Given the description of an element on the screen output the (x, y) to click on. 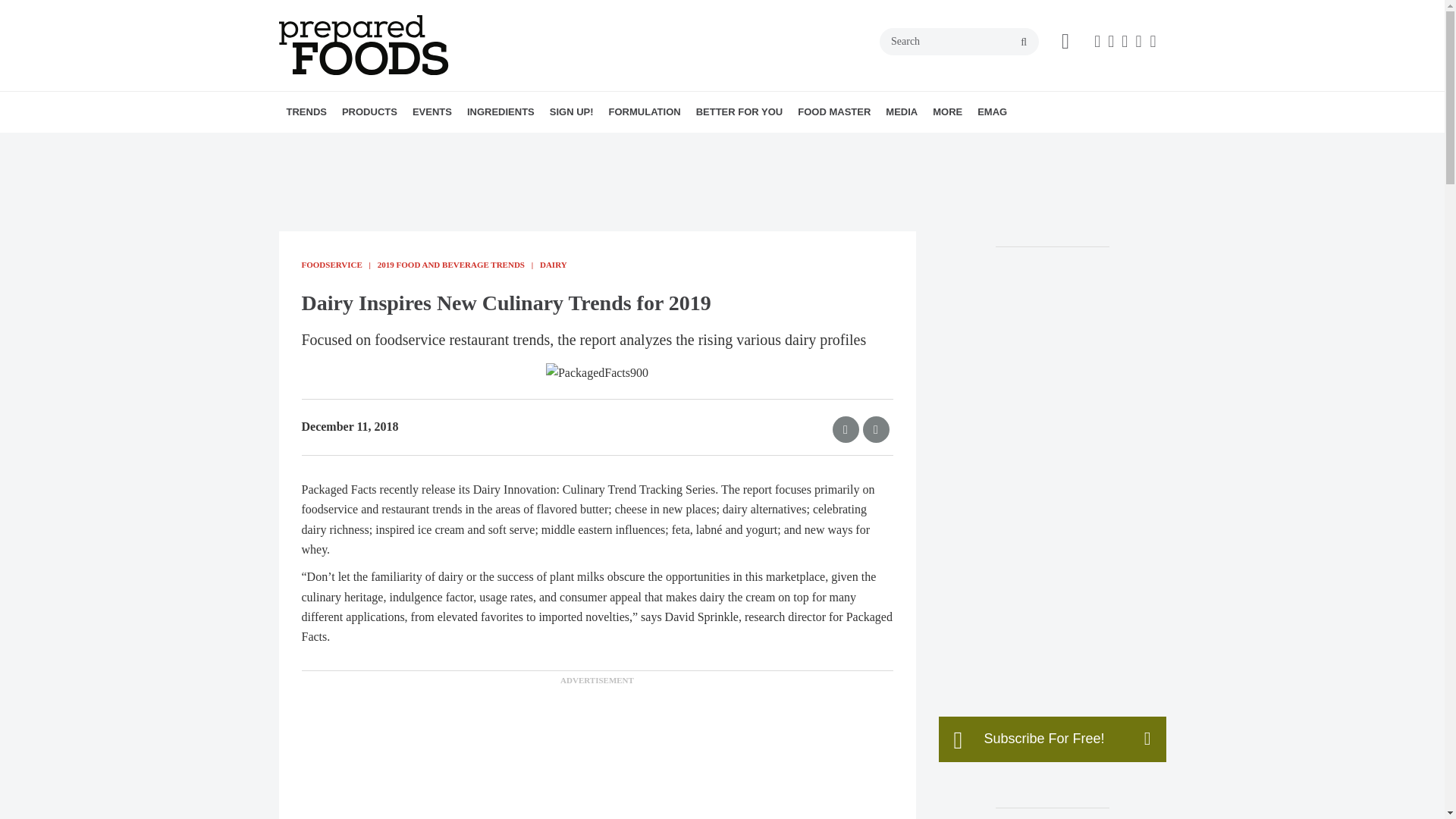
Search (959, 41)
facebook (1097, 41)
PRODUCTS (369, 111)
Search (959, 41)
cart (1064, 41)
linkedin (1138, 41)
2023 TRENDS (380, 145)
TRENDS (306, 111)
search (1023, 42)
DAIRY (456, 145)
INDUSTRY EVENTS (513, 145)
youtube (1153, 41)
twitter (1123, 41)
INGREDIENTS (500, 111)
FEATURED PRODUCTS (474, 145)
